Given the description of an element on the screen output the (x, y) to click on. 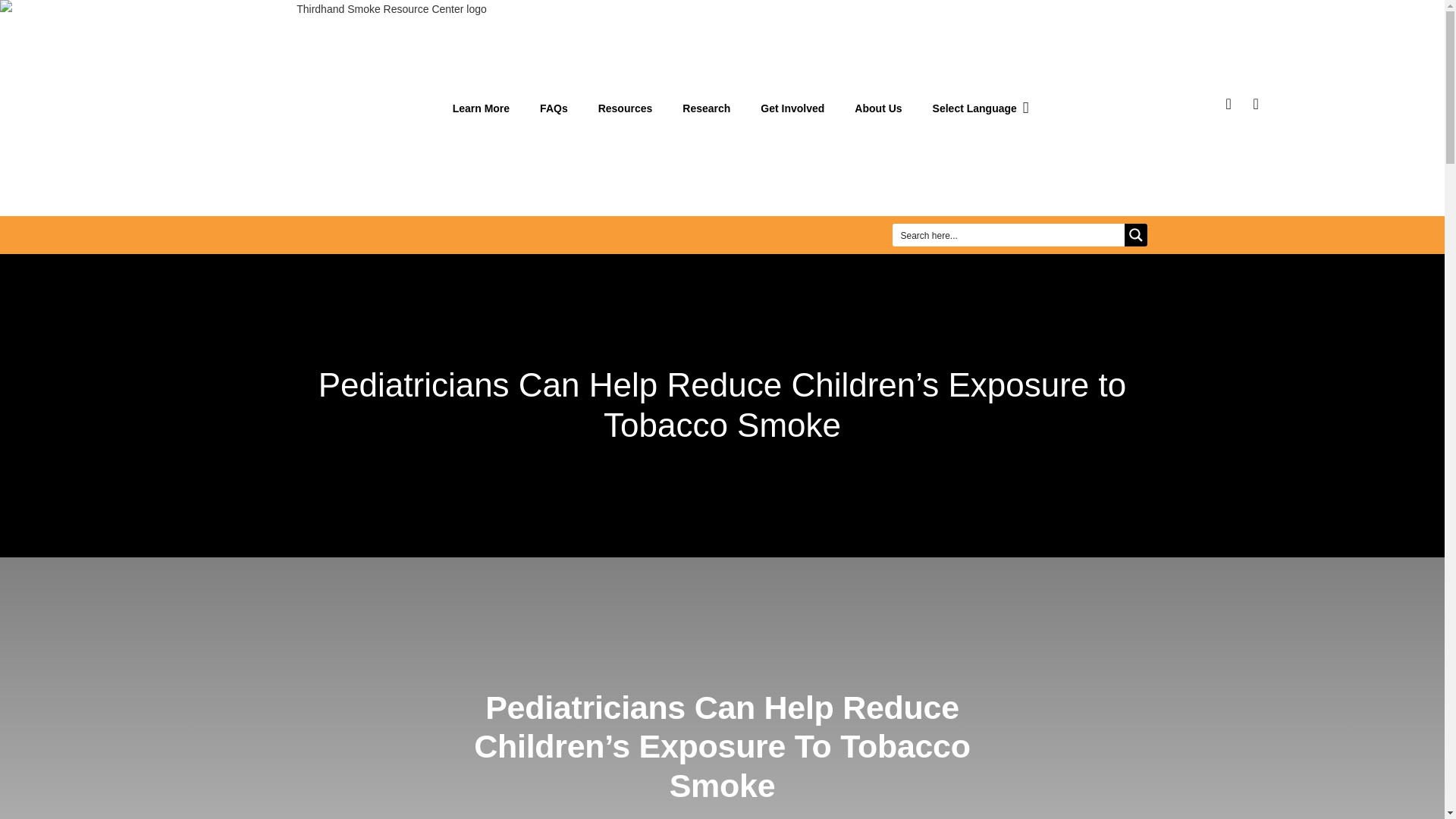
Resources (625, 108)
Research (705, 108)
Learn More (481, 108)
About Us (878, 108)
Get Involved (792, 108)
FAQs (553, 108)
